Given the description of an element on the screen output the (x, y) to click on. 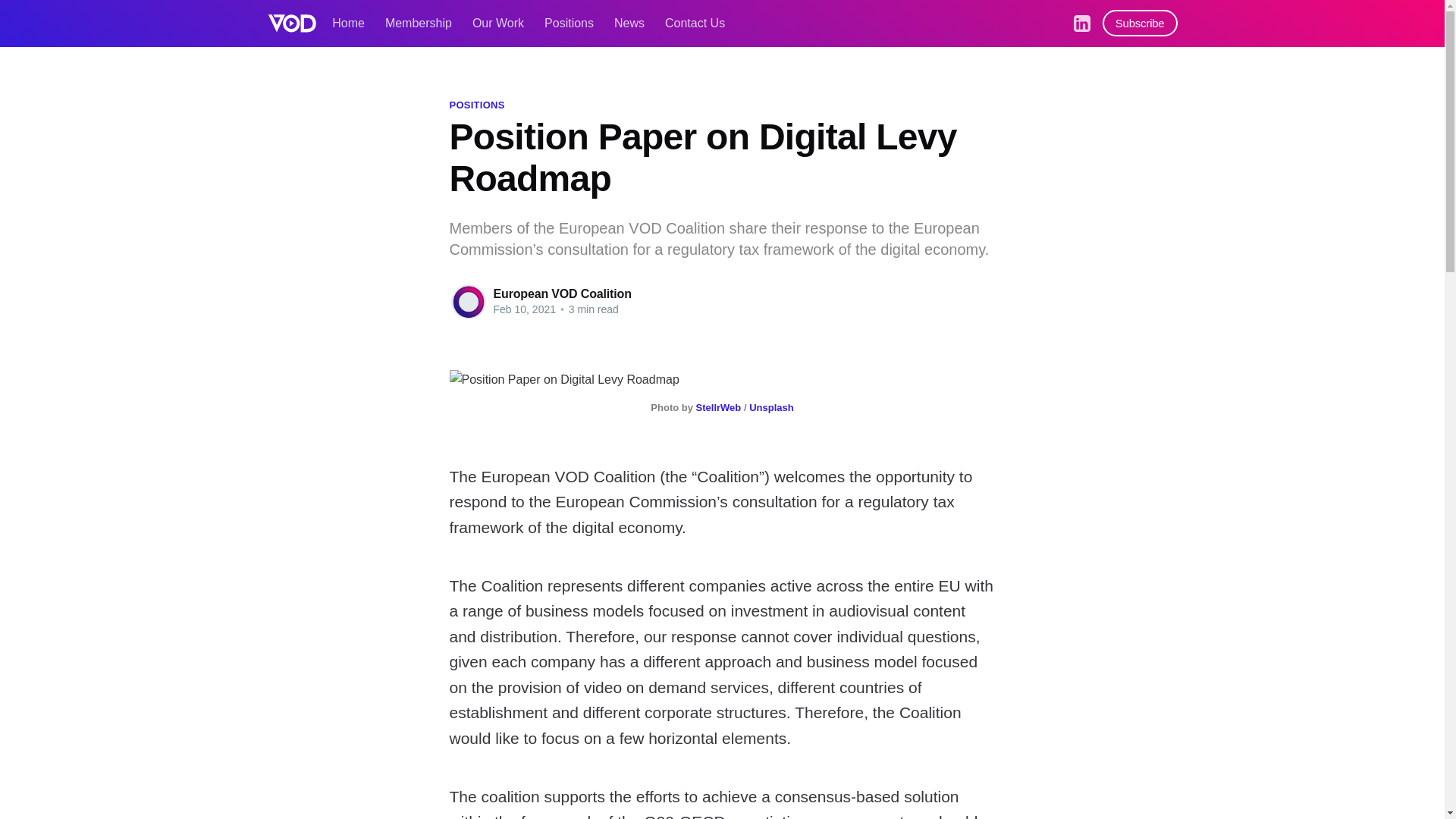
StellrWeb (718, 407)
News (629, 22)
Positions (569, 22)
Our Work (497, 22)
POSITIONS (475, 105)
Home (348, 22)
Contact Us (695, 22)
Membership (418, 22)
Subscribe (1139, 22)
European VOD Coalition (561, 293)
